Given the description of an element on the screen output the (x, y) to click on. 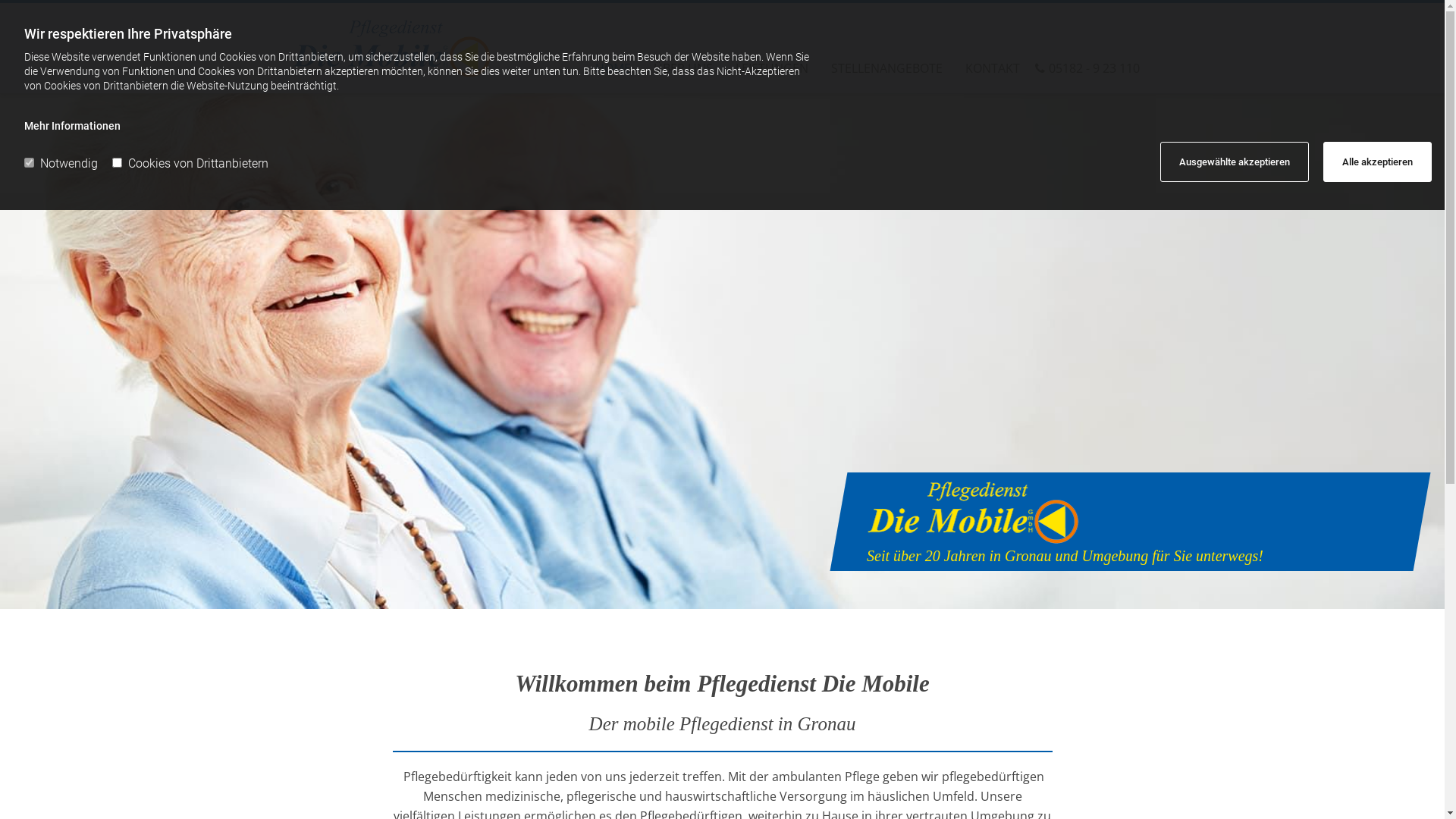
05182 - 9 23 110 Element type: text (1079, 60)
Alle akzeptieren Element type: text (1377, 161)
HOME Element type: text (612, 60)
LEISTUNGEN Element type: text (771, 60)
STELLENANGEBOTE Element type: text (886, 60)
KONTAKT Element type: text (992, 60)
Mehr Informationen Element type: text (72, 125)
Startseite Pflegedienst Die Mobile GmbH Element type: hover (391, 48)
